Given the description of an element on the screen output the (x, y) to click on. 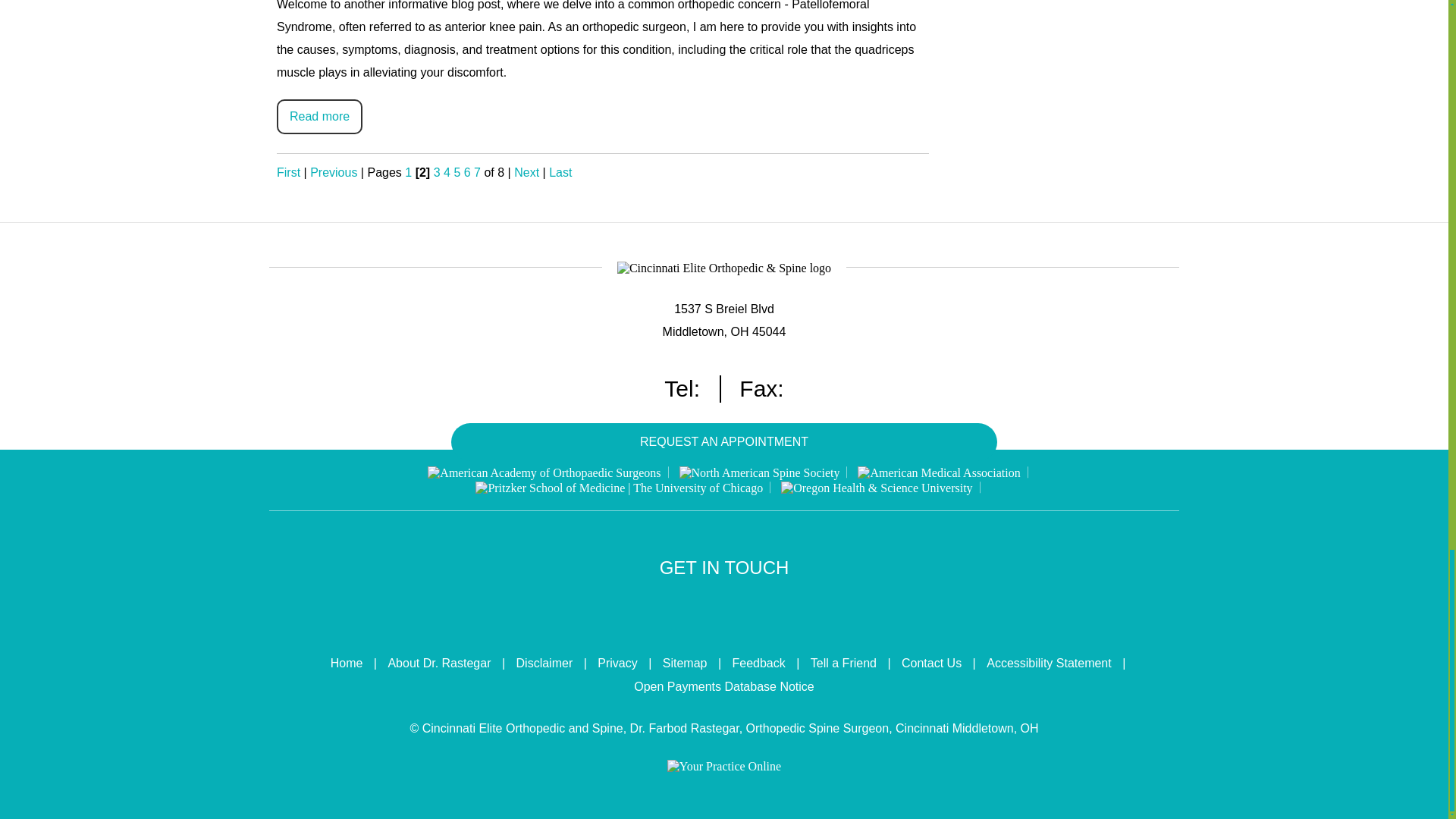
Read more about Anterior Knee Pain (319, 116)
Last Page (560, 172)
Next Page (525, 172)
First Page (287, 172)
Previous Page (333, 172)
